Given the description of an element on the screen output the (x, y) to click on. 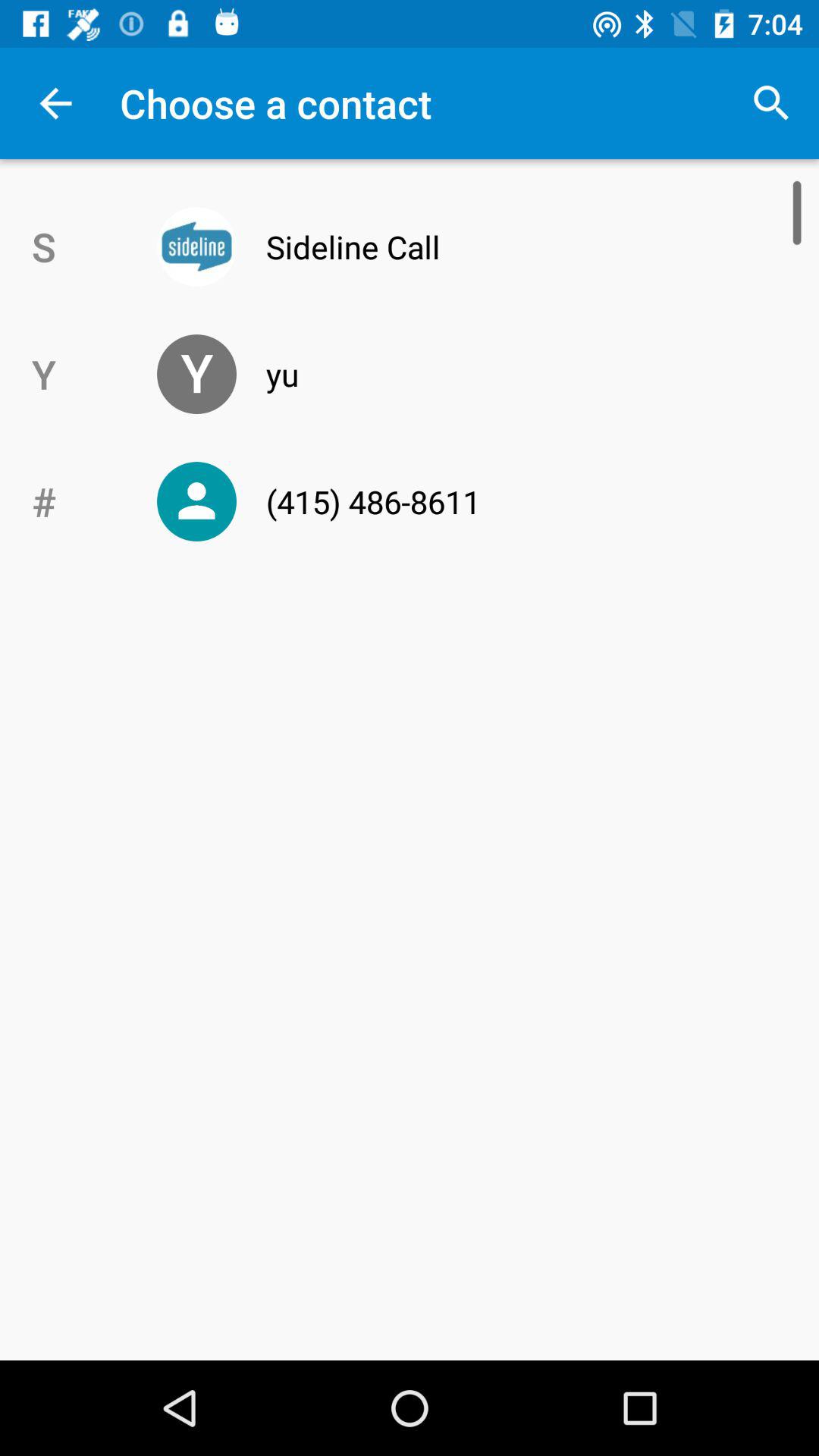
tap the item to the right of the choose a contact (771, 103)
